Given the description of an element on the screen output the (x, y) to click on. 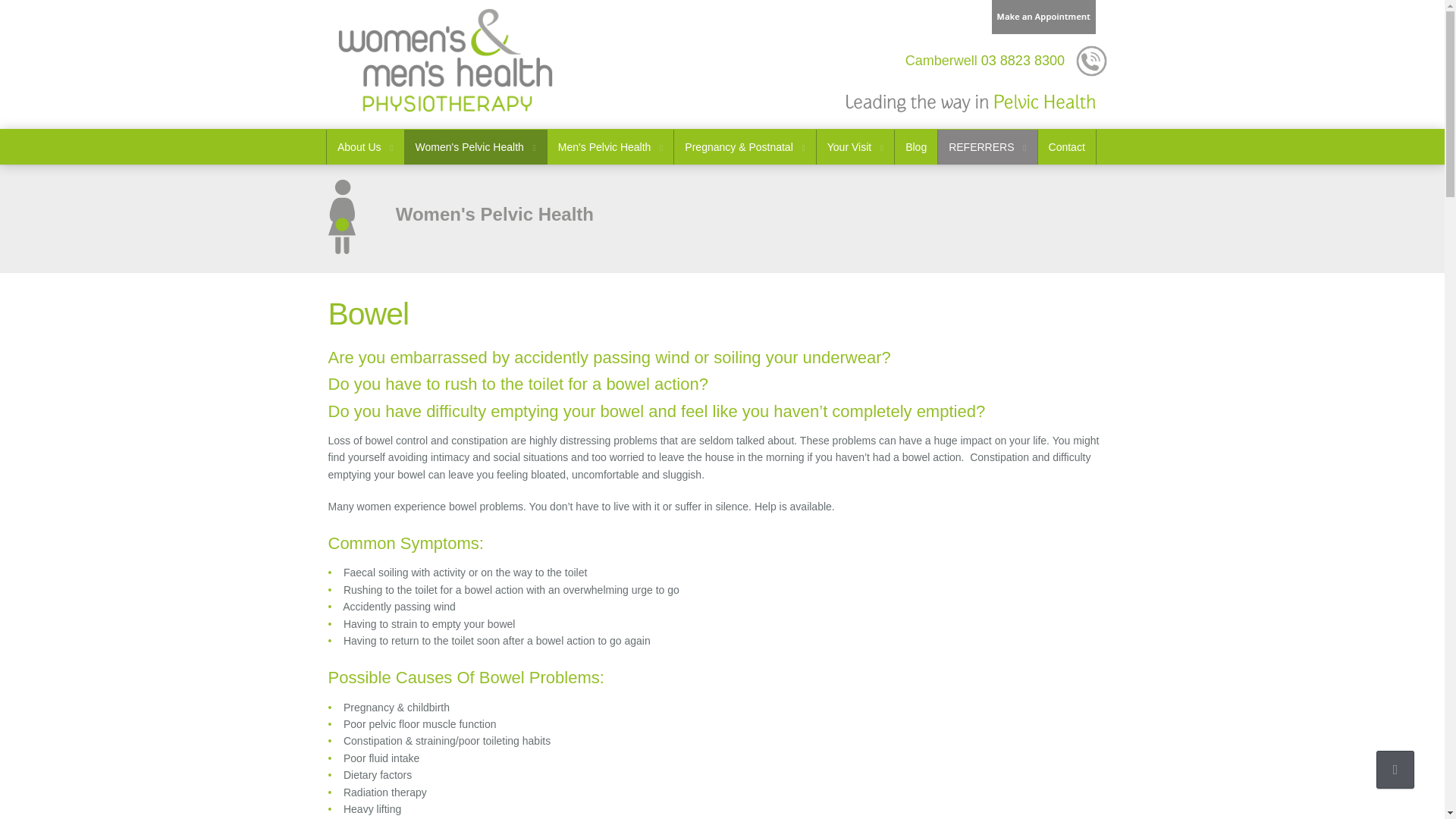
Camberwell 03 8823 8300 (984, 60)
About Us (365, 146)
Your Visit (854, 146)
Women's Pelvic Health (475, 146)
Men's Pelvic Health (610, 146)
